Given the description of an element on the screen output the (x, y) to click on. 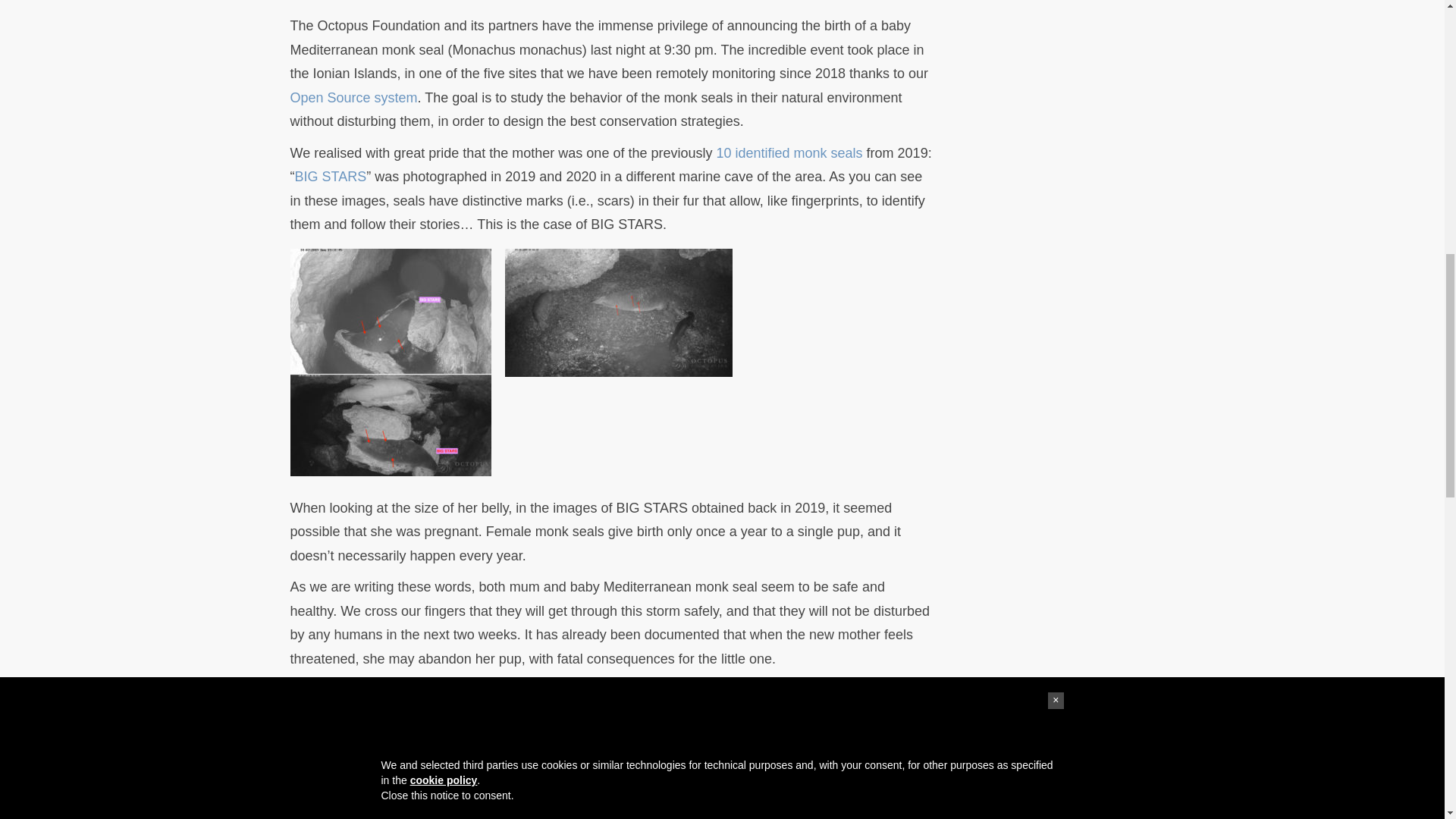
BIG STARS (330, 176)
Open Source system (352, 97)
10 identified monk seals (788, 152)
